Given the description of an element on the screen output the (x, y) to click on. 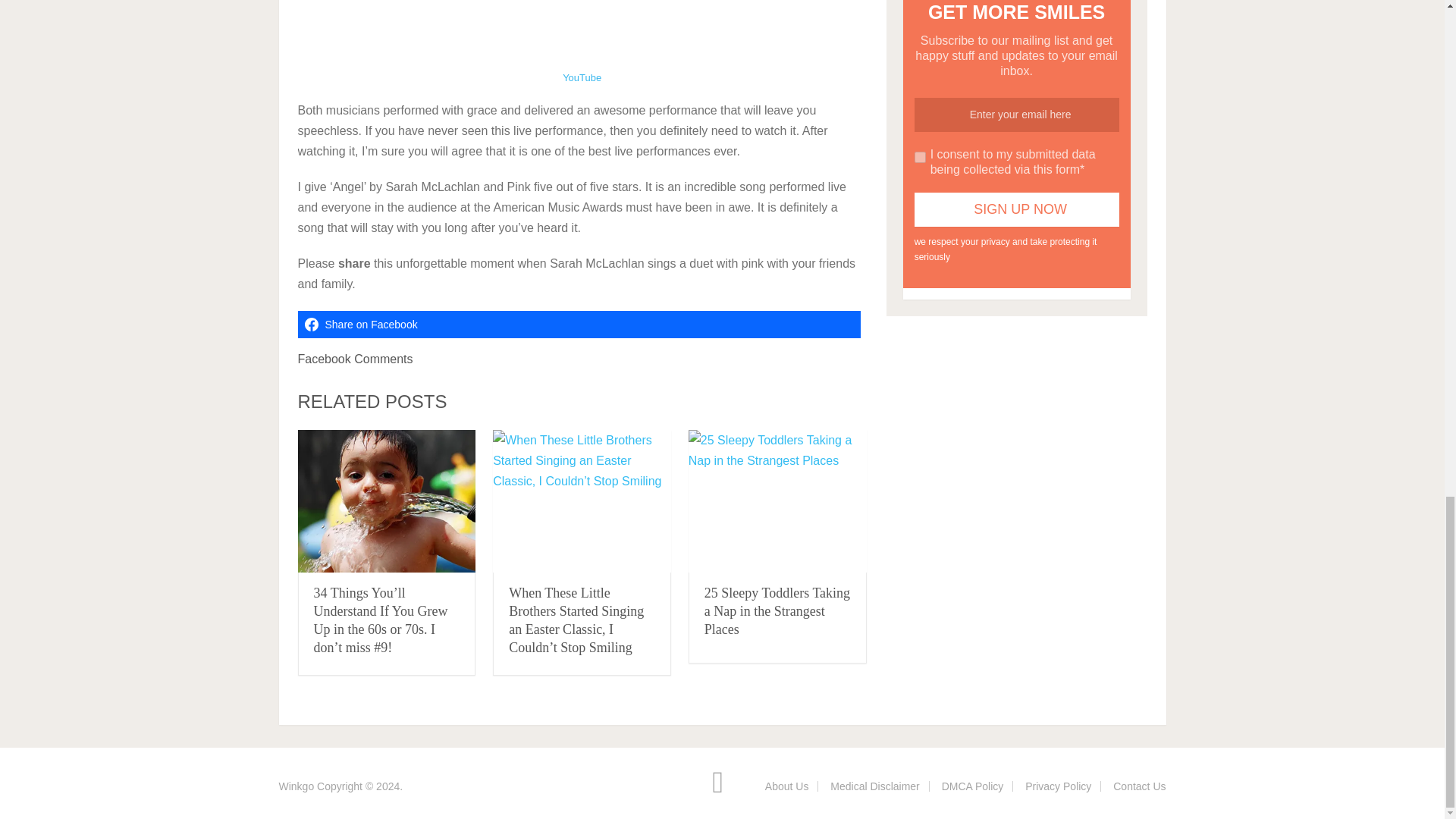
Sign Up Now (1016, 209)
Share on Share on Facebook (578, 324)
Share on Facebook (578, 324)
on (920, 156)
25 Sleepy Toddlers Taking a Nap in the Strangest Places (777, 501)
YouTube (581, 77)
25 Sleepy Toddlers Taking a Nap in the Strangest Places (777, 611)
